Given the description of an element on the screen output the (x, y) to click on. 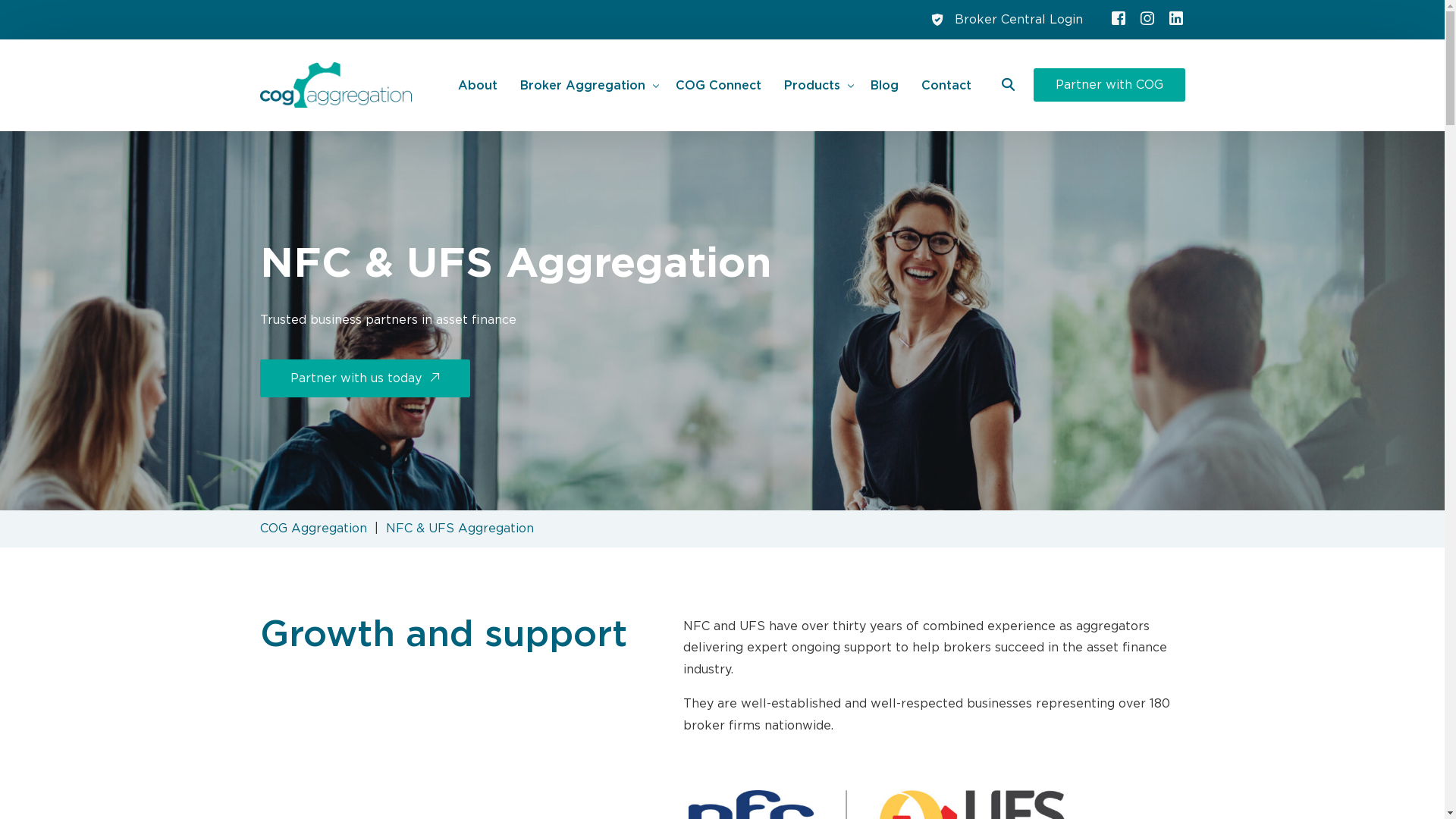
Partner with COG Element type: text (1109, 84)
About Element type: text (477, 85)
COG Aggregation Element type: text (312, 528)
COG Connect Element type: text (718, 85)
Broker Aggregation Element type: text (586, 85)
Blog Element type: text (884, 85)
Contact Element type: text (946, 85)
Broker Central Login Element type: text (1017, 19)
Partner with us today Element type: text (364, 378)
Products Element type: text (815, 85)
